Given the description of an element on the screen output the (x, y) to click on. 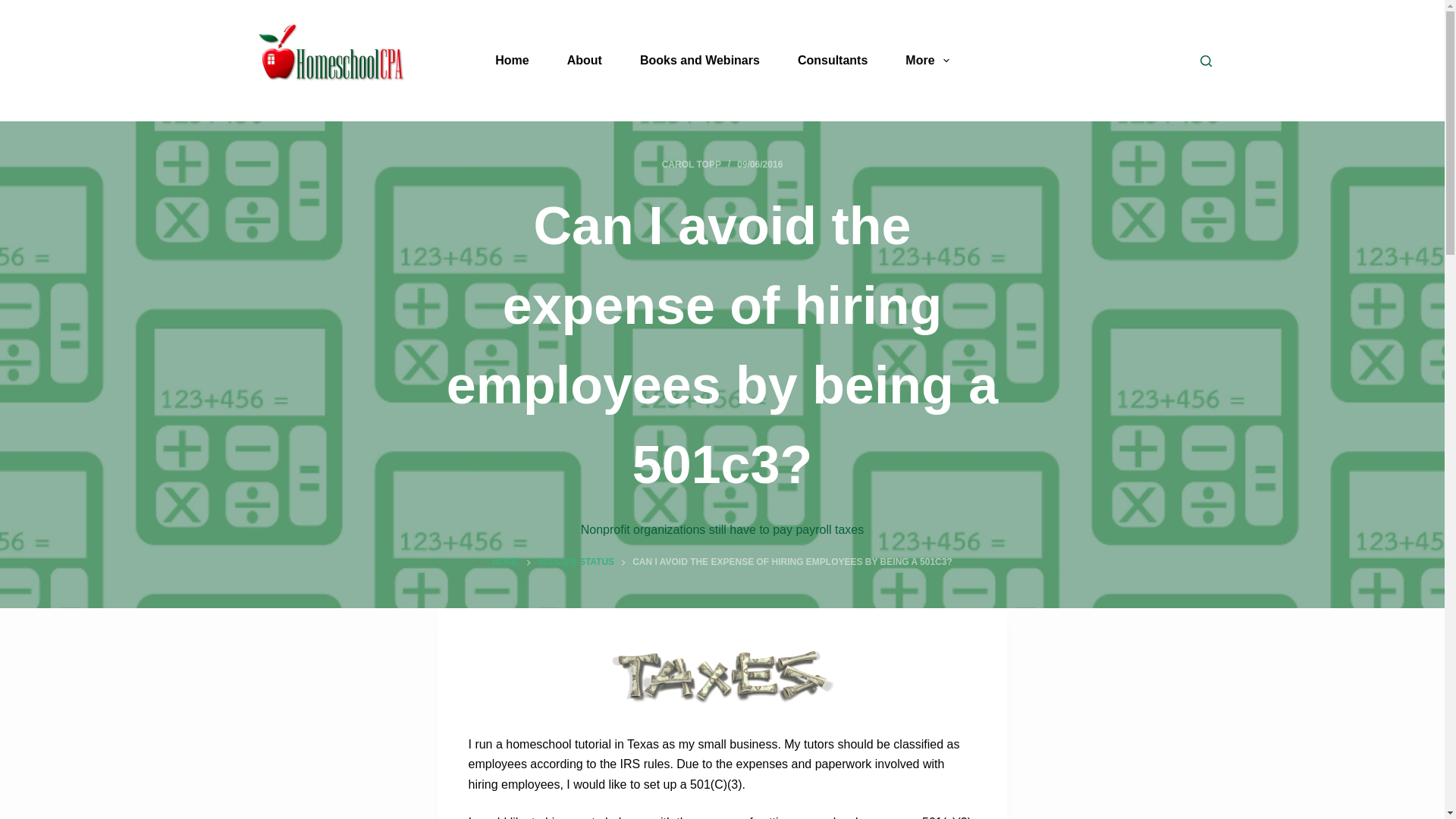
Home (511, 60)
Posts by Carol Topp (691, 163)
Consultants (832, 60)
About (584, 60)
Skip to content (15, 7)
More (927, 60)
HOME (505, 562)
CAROL TOPP (691, 163)
Books and Webinars (699, 60)
